Given the description of an element on the screen output the (x, y) to click on. 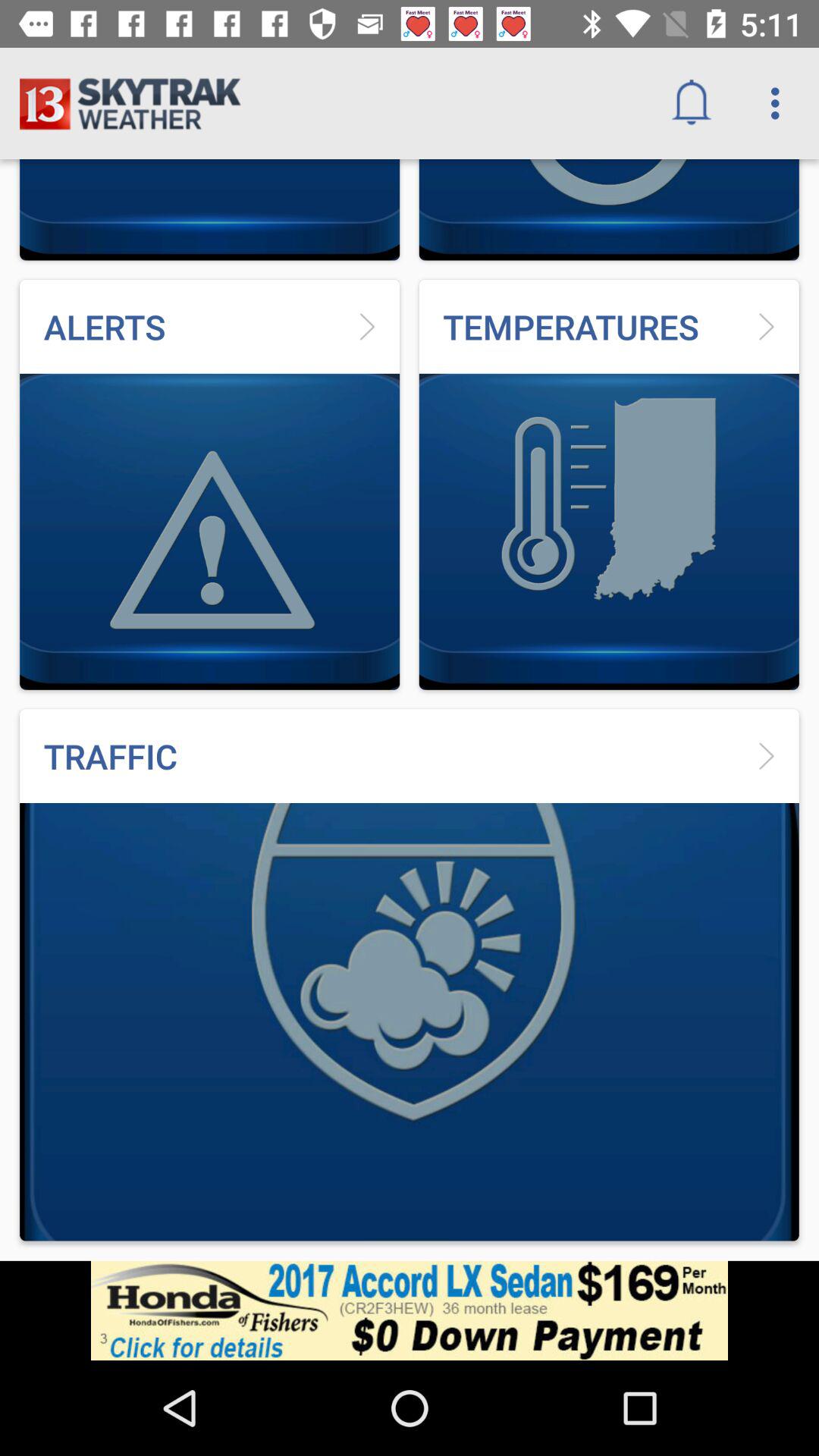
click on the traffic image (409, 975)
click the alerts button on the web page (209, 484)
click on the notification button (691, 103)
click on the button beside bell icon (779, 103)
select the logo on the top left corner of the web page (209, 159)
